Given the description of an element on the screen output the (x, y) to click on. 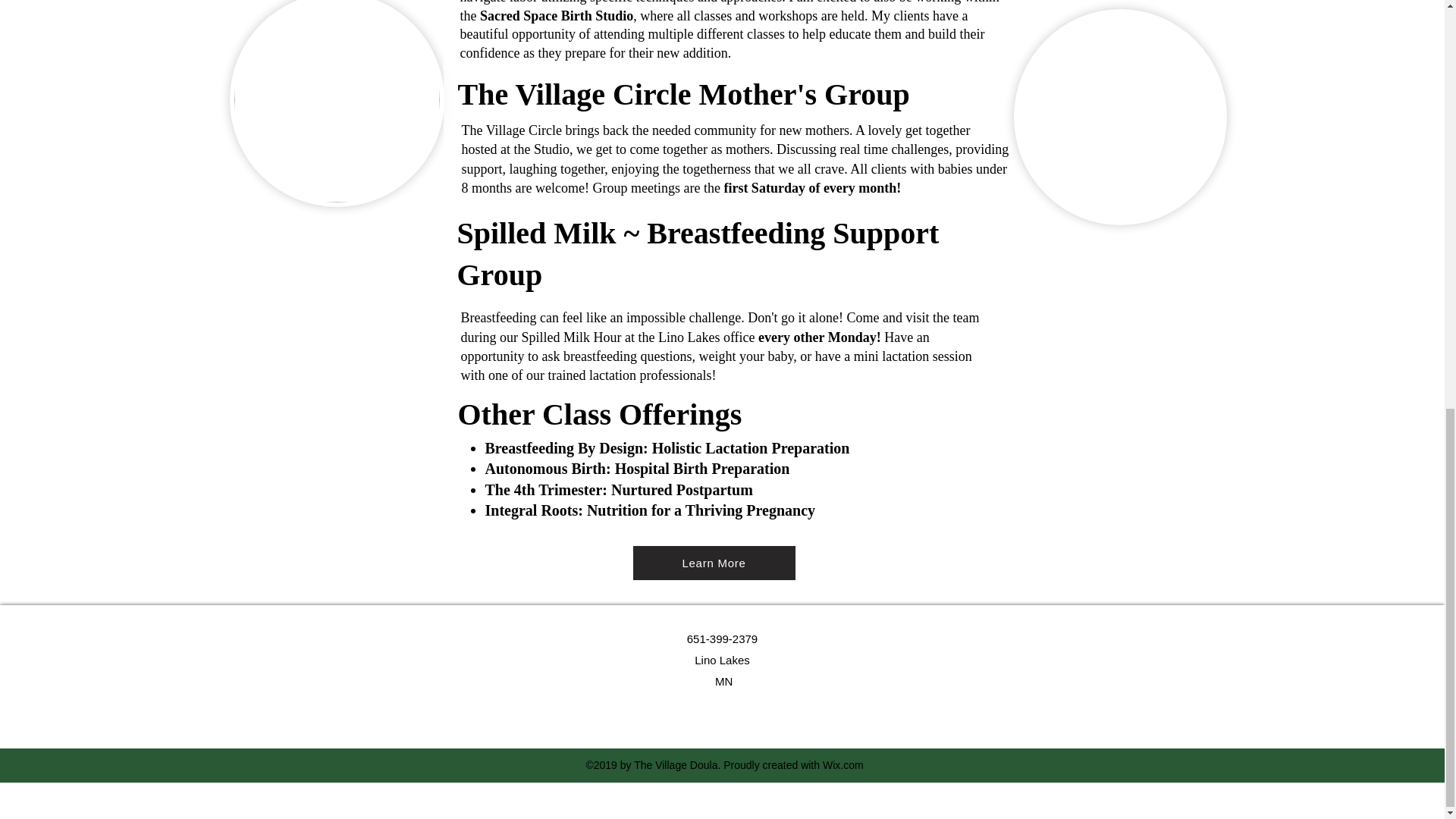
Learn More (712, 562)
